Given the description of an element on the screen output the (x, y) to click on. 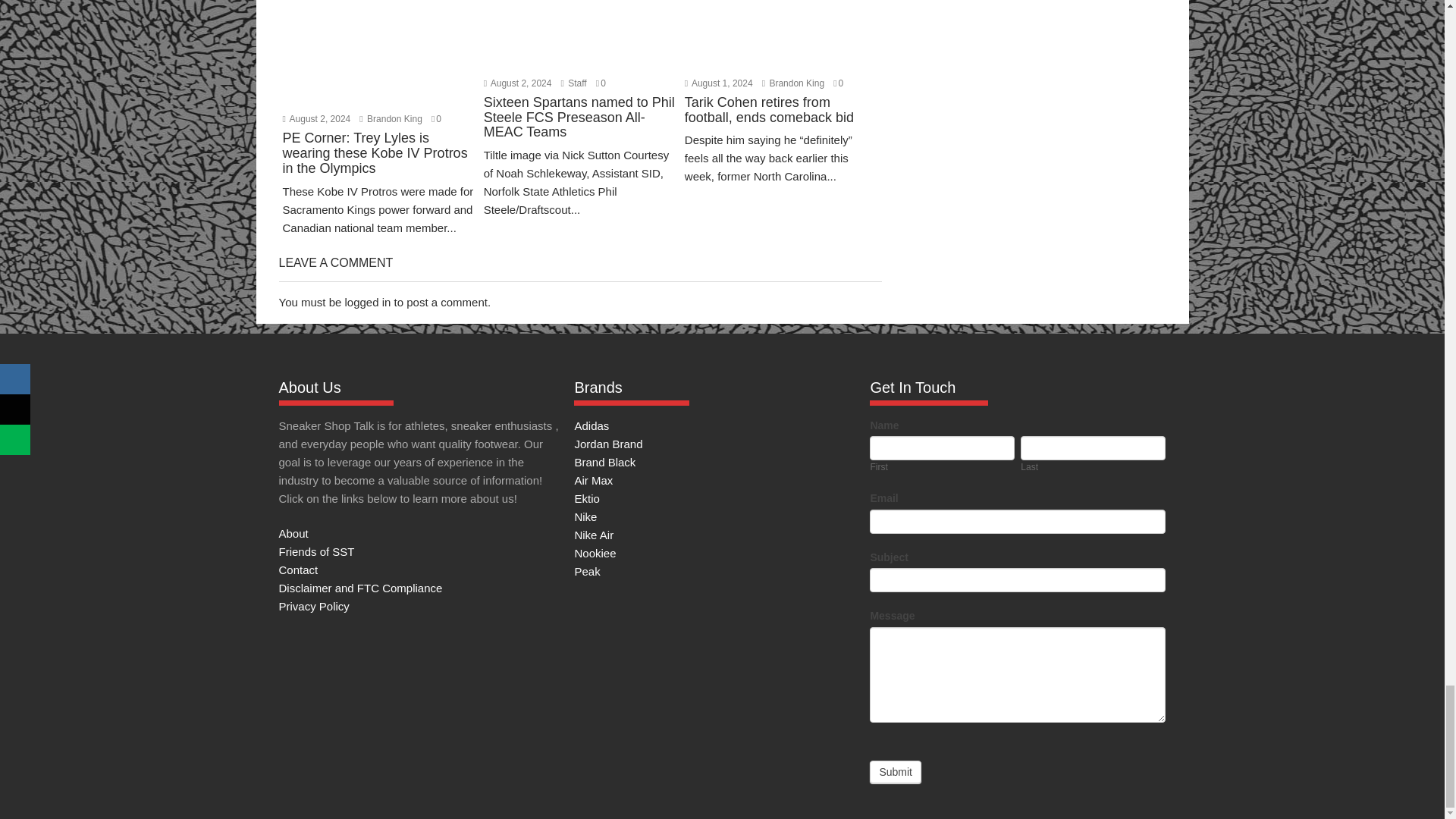
Staff (573, 82)
Brandon King (792, 82)
Brandon King (390, 118)
